Given the description of an element on the screen output the (x, y) to click on. 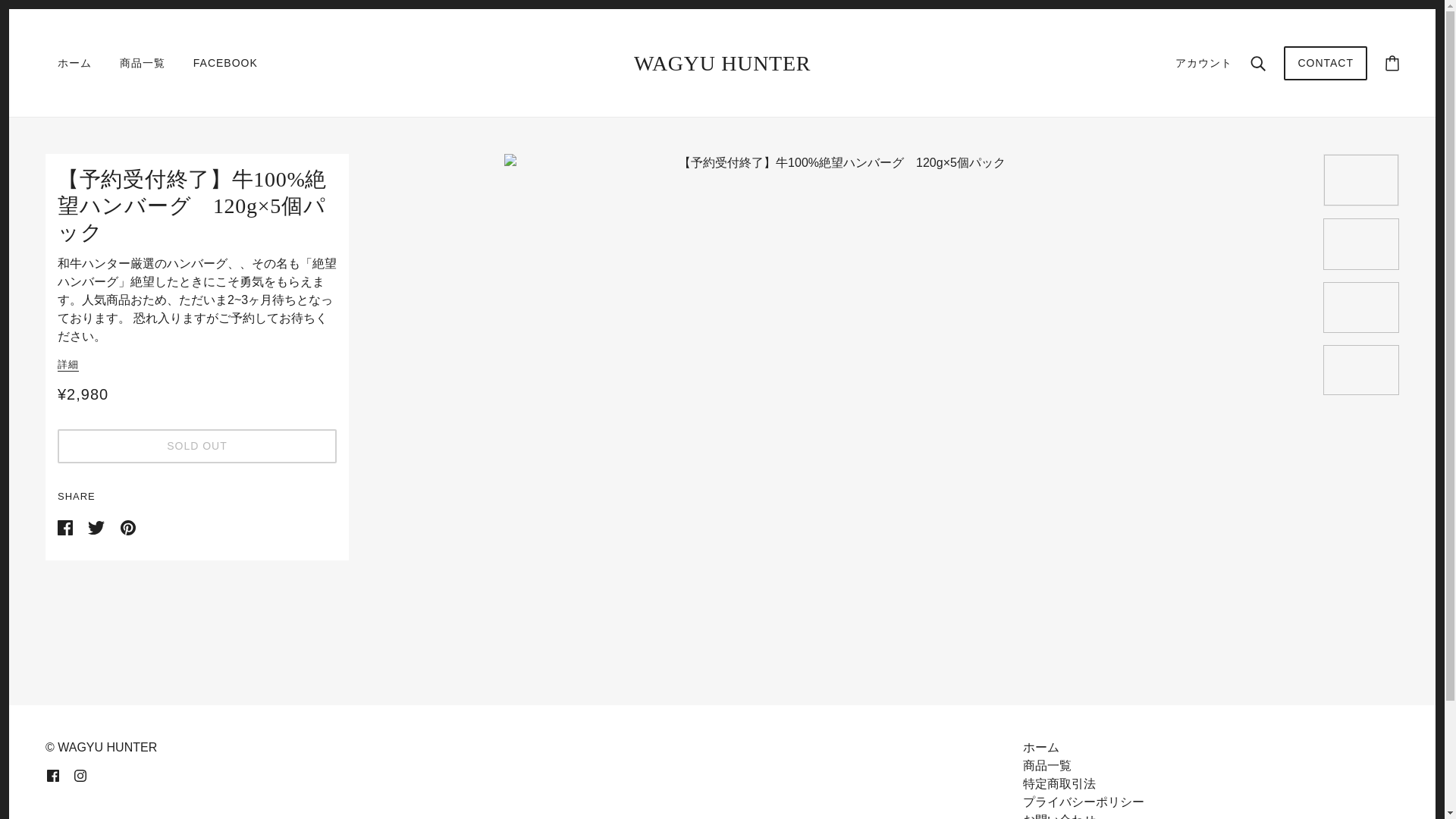
CONTACT (1325, 69)
WAGYU HUNTER (721, 62)
SOLD OUT (197, 446)
FACEBOOK (224, 62)
